Given the description of an element on the screen output the (x, y) to click on. 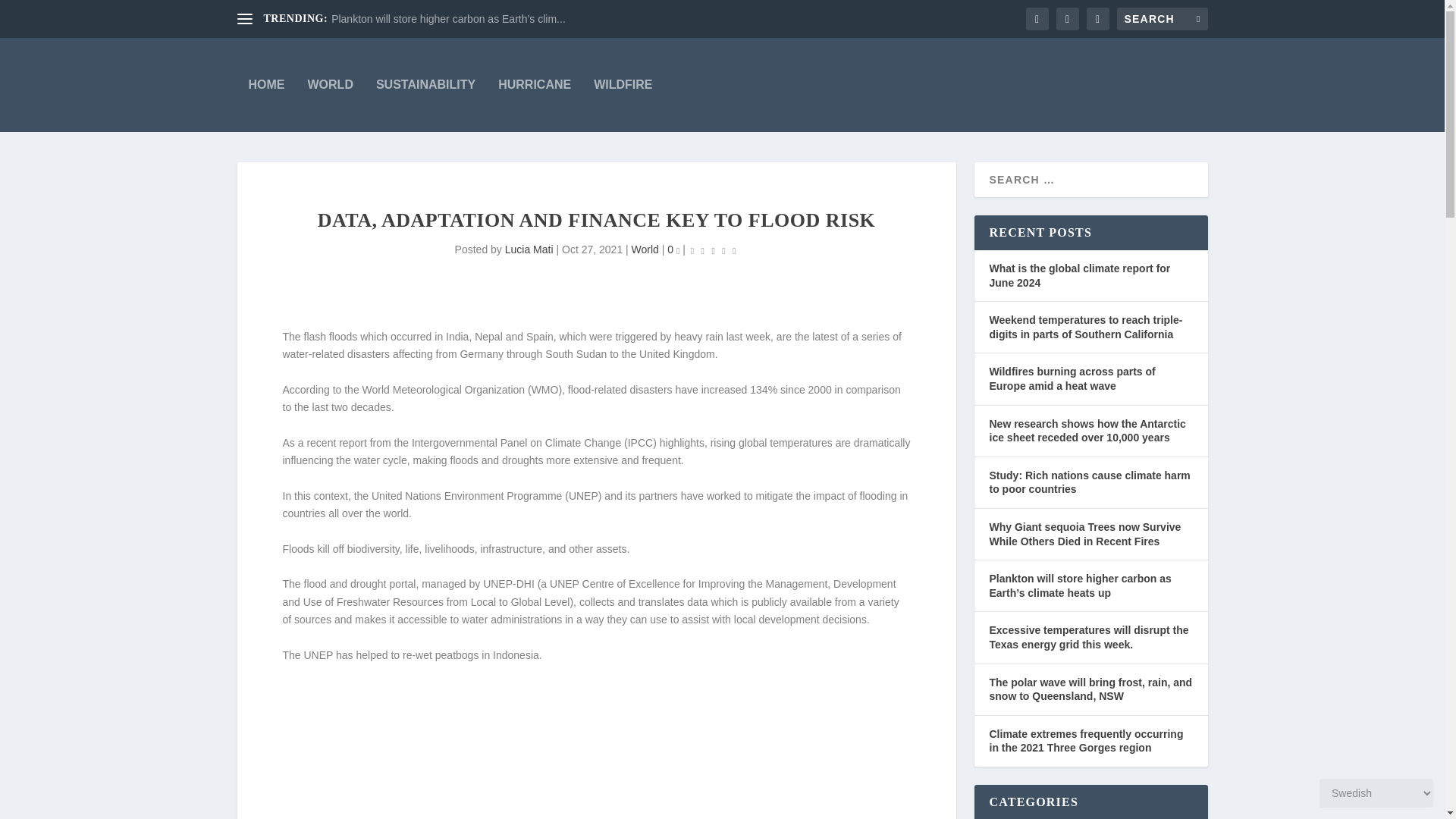
Rating: 0.00 (713, 250)
World (645, 249)
SUSTAINABILITY (425, 84)
Lucia Mati (529, 249)
Search for: (1161, 18)
Posts by Lucia Mati (529, 249)
0 (672, 249)
